Given the description of an element on the screen output the (x, y) to click on. 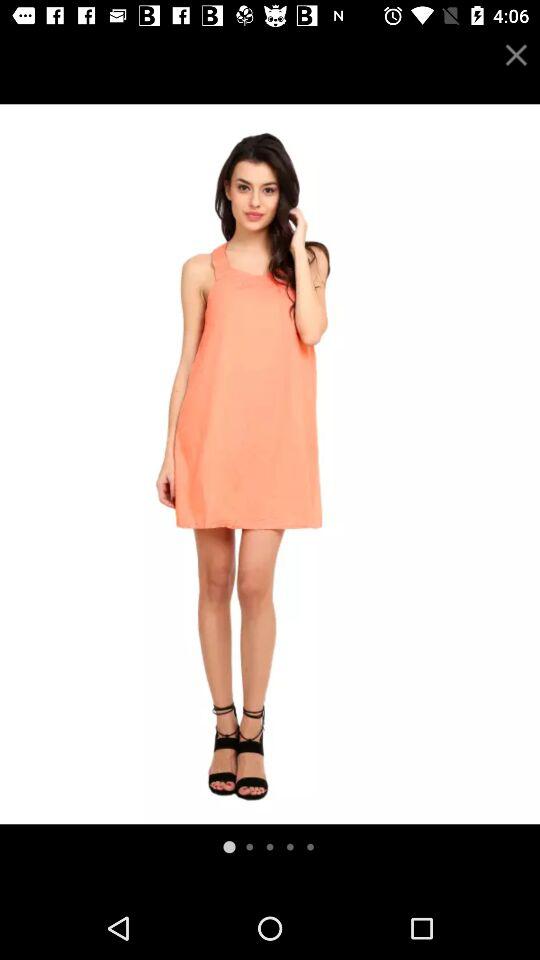
close the tab (516, 54)
